Given the description of an element on the screen output the (x, y) to click on. 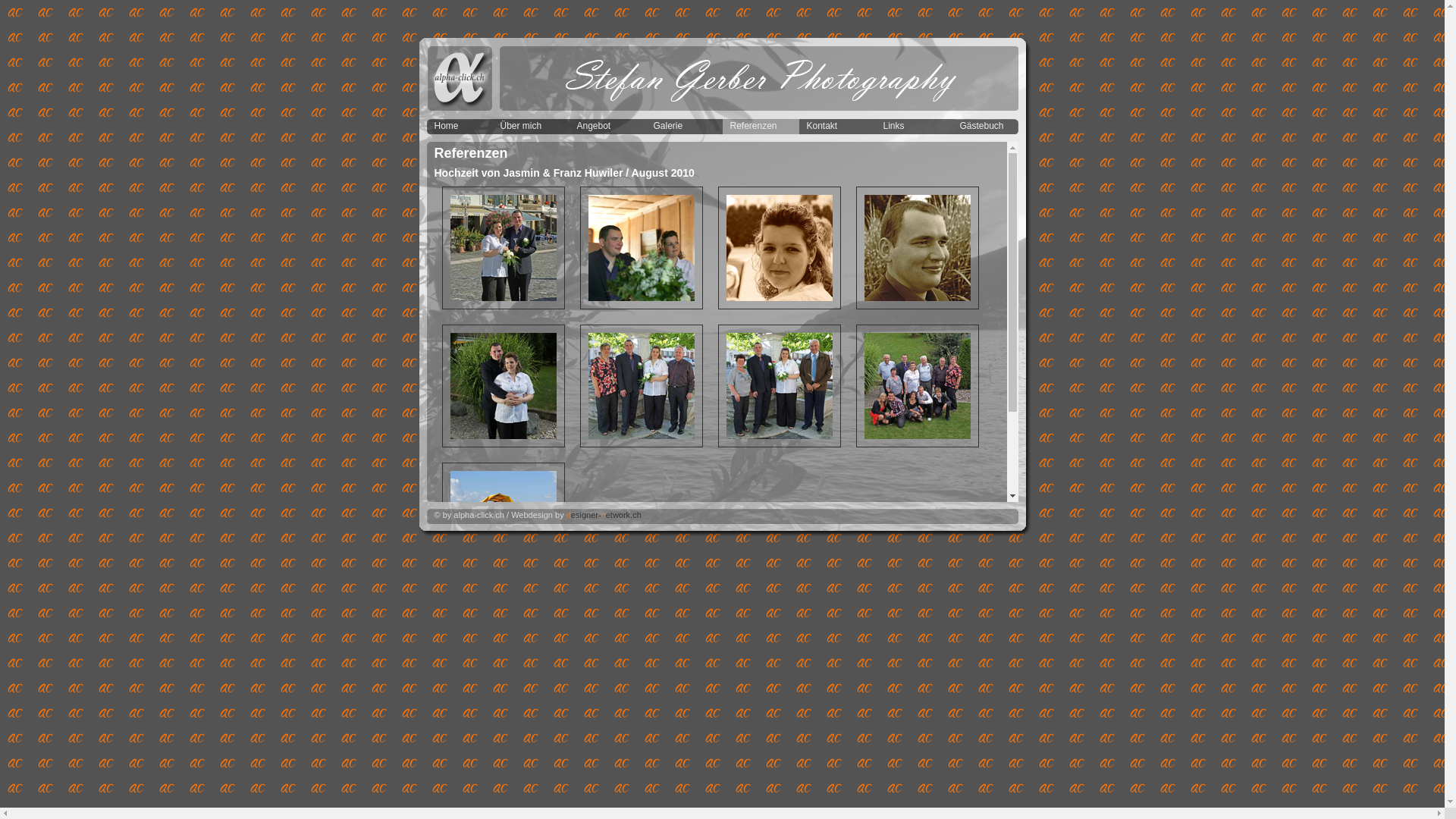
designer-network.ch Element type: text (603, 514)
Angebot Element type: text (606, 126)
Galerie Element type: text (684, 126)
Home Element type: text (459, 126)
Kontakt Element type: text (837, 126)
Links Element type: text (913, 126)
Referenzen Element type: text (759, 126)
